Given the description of an element on the screen output the (x, y) to click on. 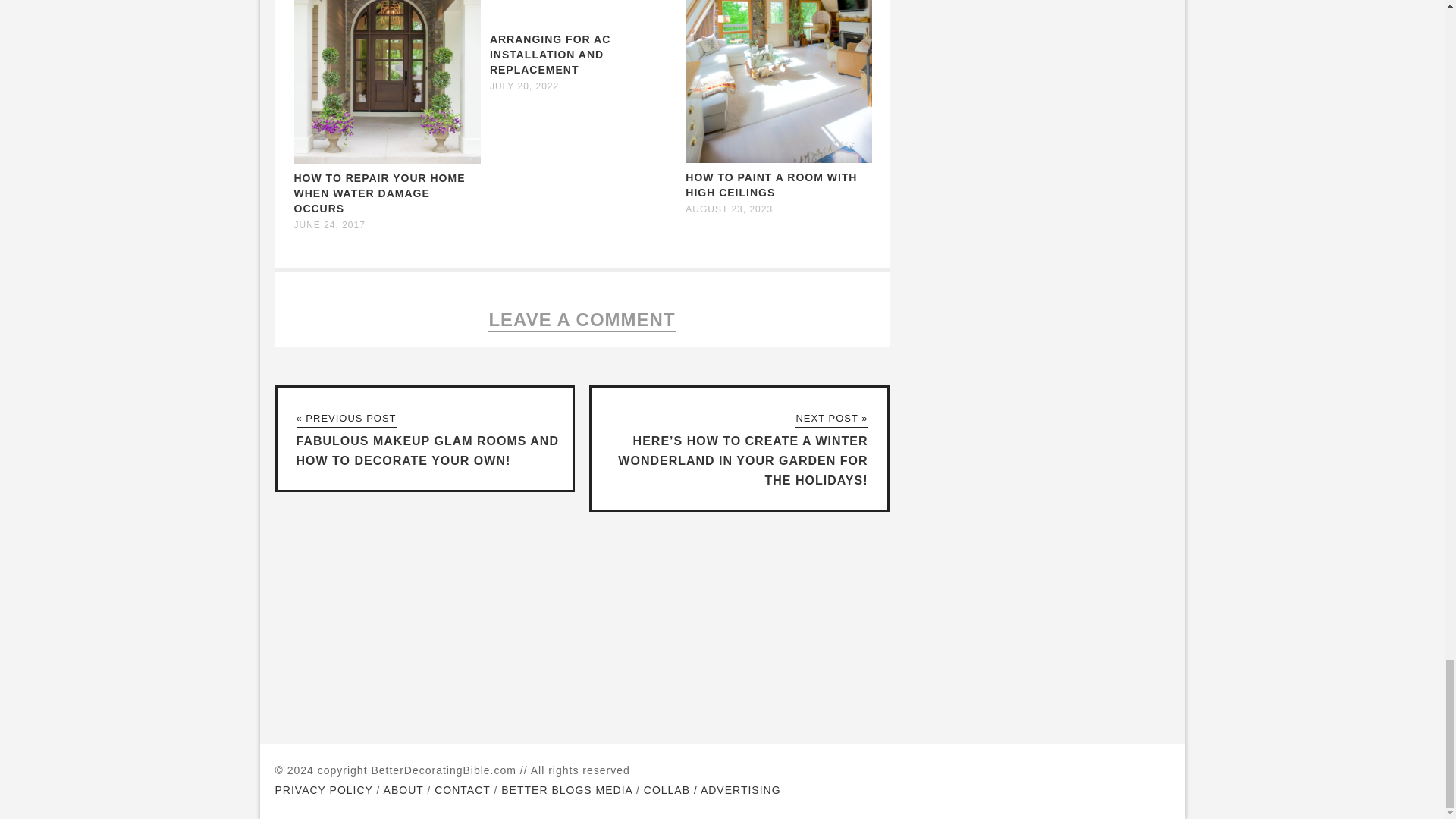
JUNE 24, 2017 (329, 225)
Permanent Link to How to Paint a Room With High Ceilings (771, 185)
Permanent Link to How to Paint a Room With High Ceilings (778, 159)
HOW TO REPAIR YOUR HOME WHEN WATER DAMAGE OCCURS (379, 192)
